Given the description of an element on the screen output the (x, y) to click on. 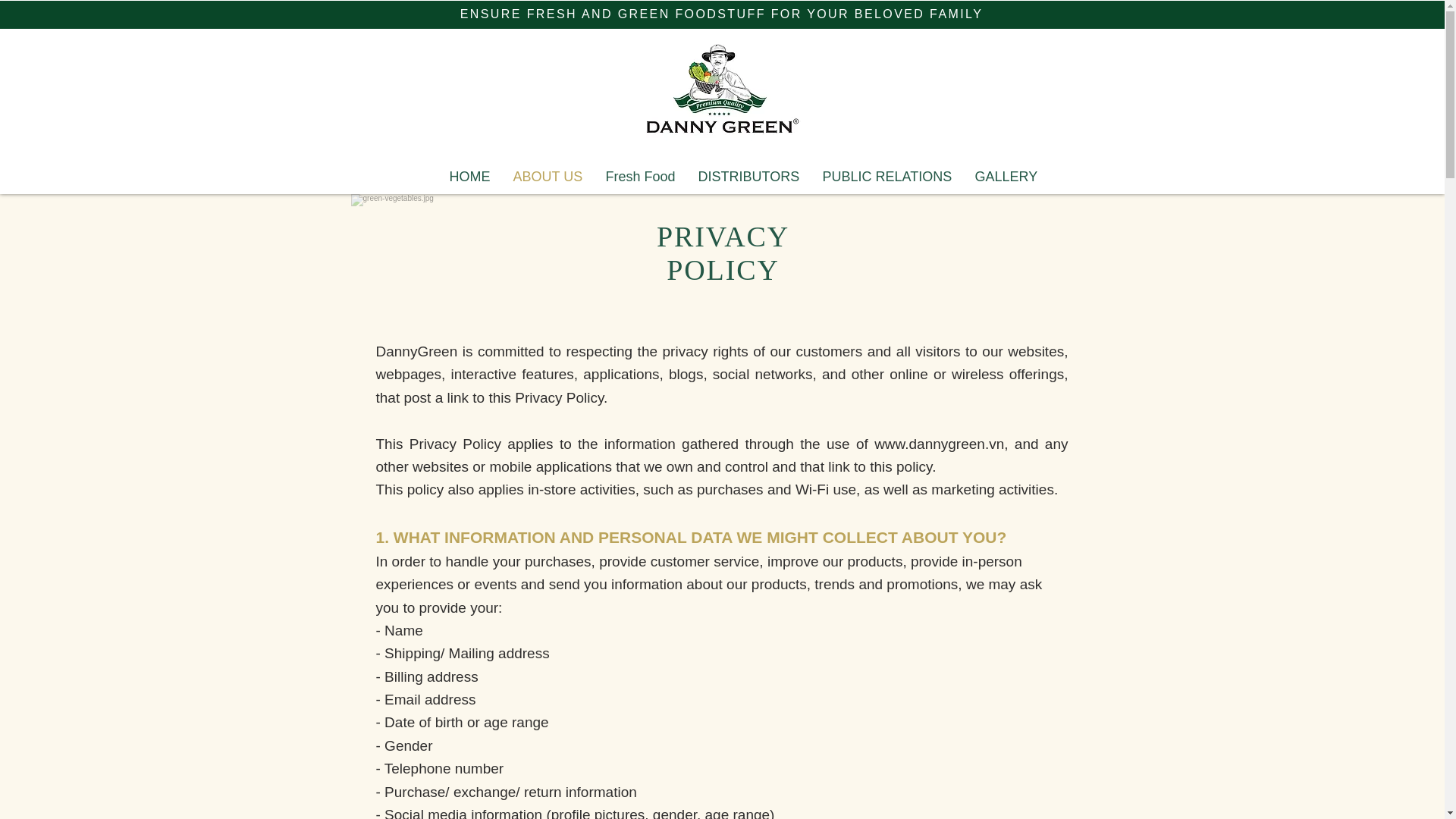
ABOUT US (548, 176)
GALLERY (1005, 176)
PUBLIC RELATIONS (886, 176)
www.dannygreen.vn (939, 443)
Fresh Food (640, 176)
HOME (470, 176)
DANNYGREEN (718, 113)
DISTRIBUTORS (748, 176)
